Given the description of an element on the screen output the (x, y) to click on. 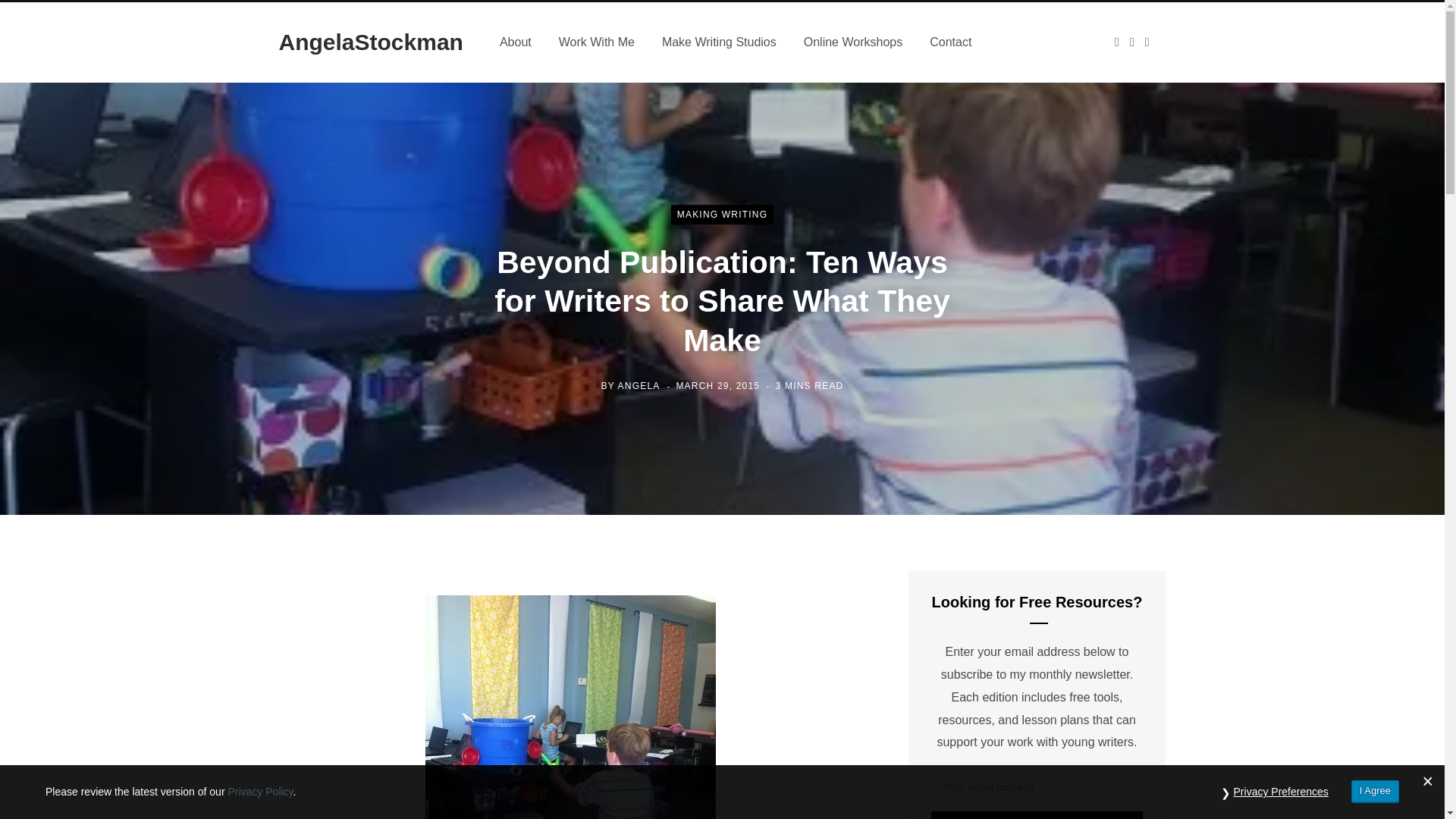
Posts by Angela (638, 385)
ANGELA (638, 385)
Make Writing Studios (718, 41)
Online Workshops (852, 41)
Subscribe (1036, 815)
Subscribe (1036, 815)
AngelaStockman (371, 42)
Work With Me (595, 41)
MAKING WRITING (722, 214)
About (515, 41)
Contact (950, 41)
